Given the description of an element on the screen output the (x, y) to click on. 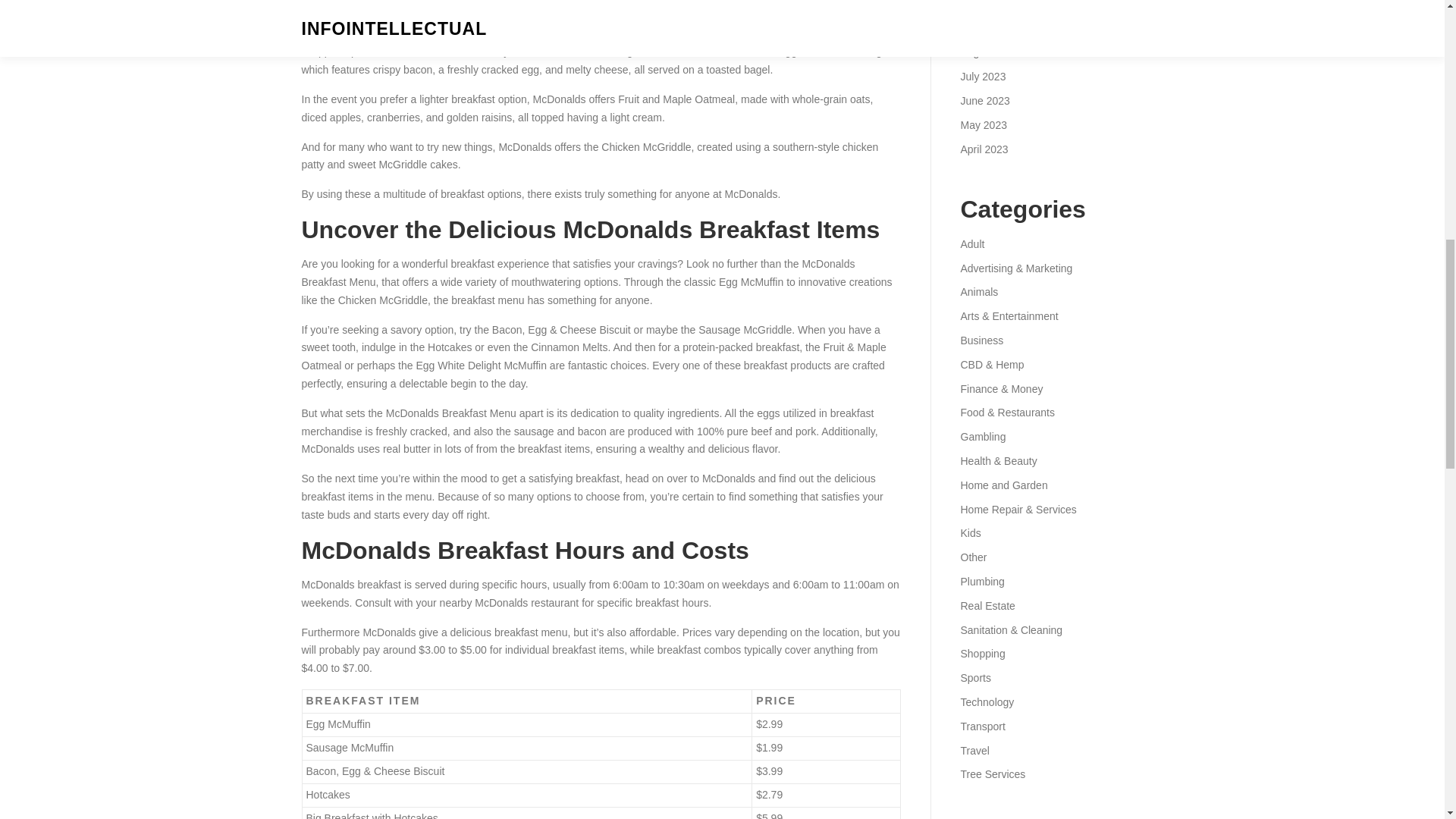
Adult (971, 244)
May 2023 (982, 124)
Animals (978, 291)
July 2023 (982, 76)
October 2023 (992, 5)
September 2023 (999, 28)
June 2023 (984, 101)
April 2023 (983, 149)
August 2023 (989, 51)
Business (981, 340)
